Given the description of an element on the screen output the (x, y) to click on. 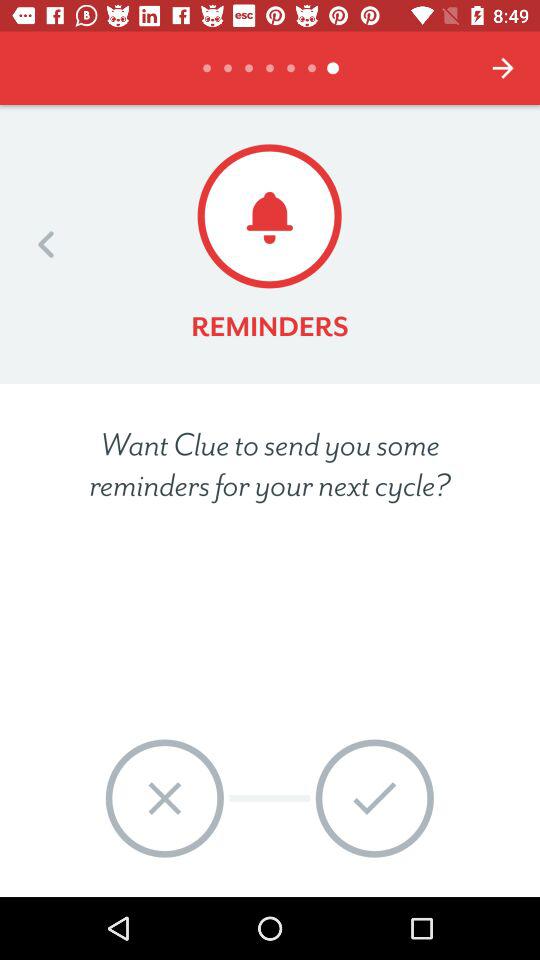
turn off item below the want clue to (374, 798)
